Given the description of an element on the screen output the (x, y) to click on. 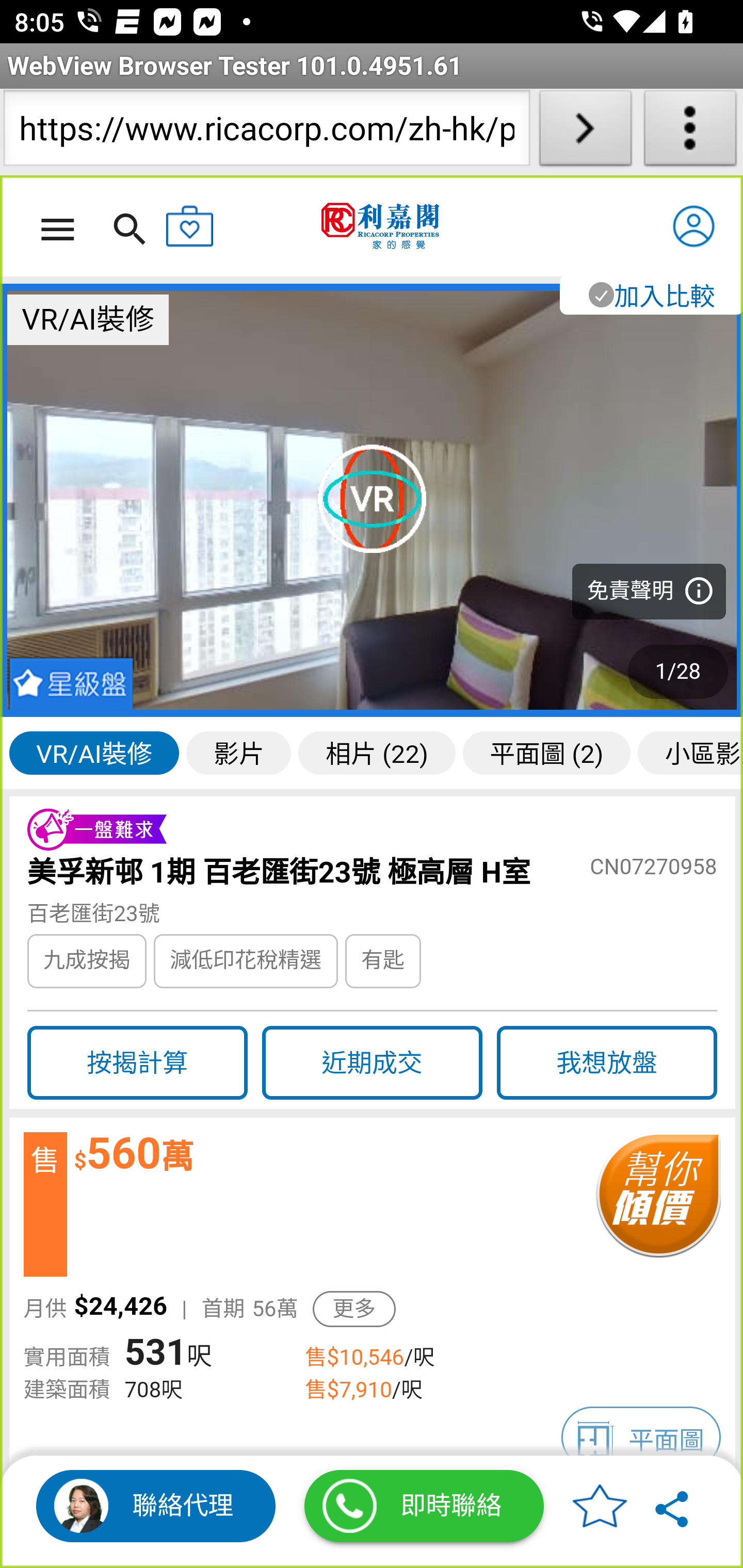
Load URL (585, 132)
About WebView (690, 132)
image watermark 免責聲明 (372, 499)
unchecked 加入比較 (650, 294)
免責聲明 (648, 591)
VR/AI裝修 (93, 752)
影片 (238, 752)
相片 (22) (376, 752)
平面圖 (2) (547, 752)
小區影片 (2) (690, 752)
按揭計算 (136, 1062)
近期成交 (371, 1062)
我想放盤 (606, 1062)
negotiation (657, 1204)
更多 (353, 1309)
平面圖 (640, 1437)
April Chan 聯絡代理 (156, 1505)
whatsapp 即時聯絡 (424, 1505)
Share button (672, 1505)
